Given the description of an element on the screen output the (x, y) to click on. 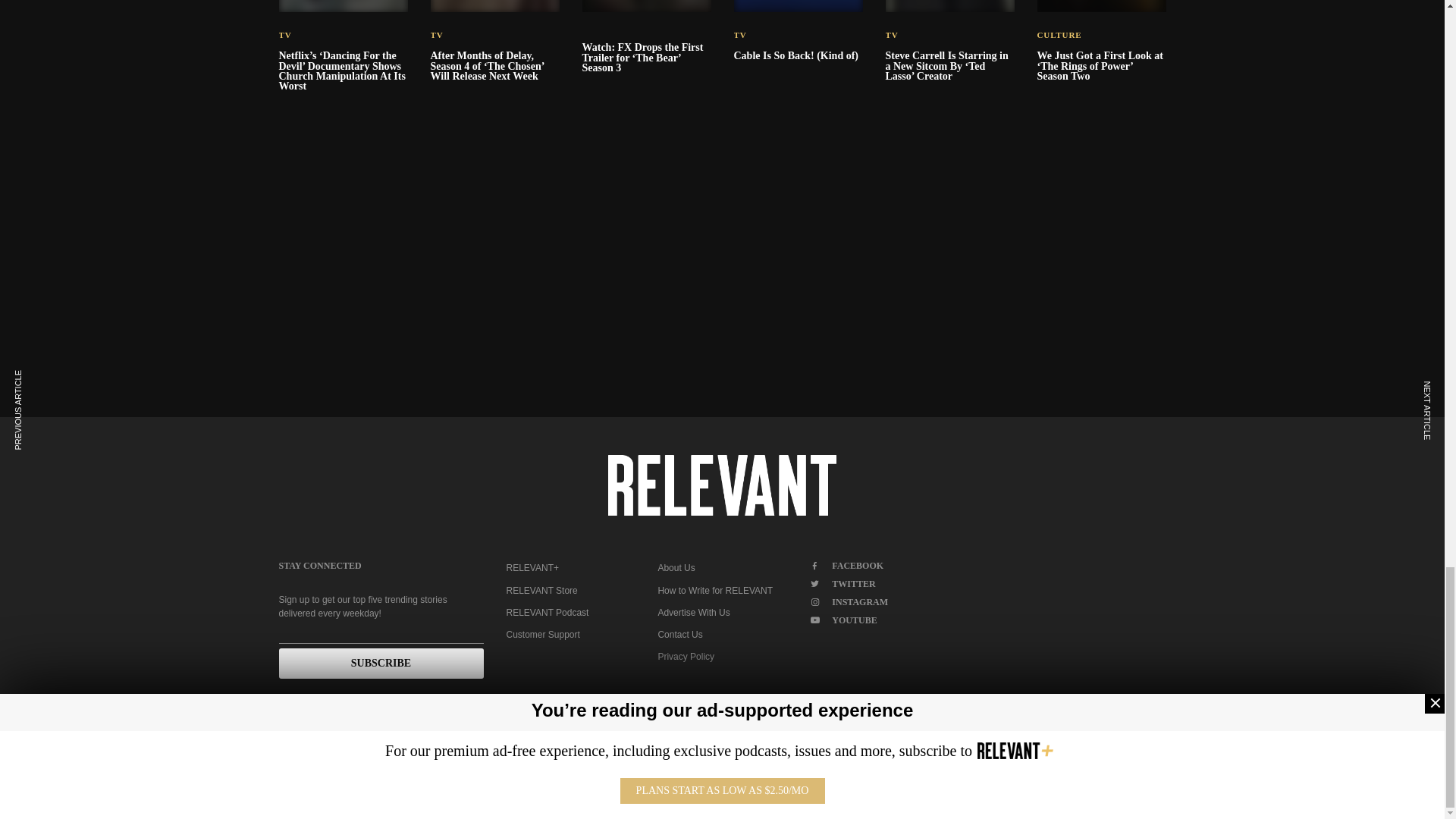
Subscribe (381, 663)
